Given the description of an element on the screen output the (x, y) to click on. 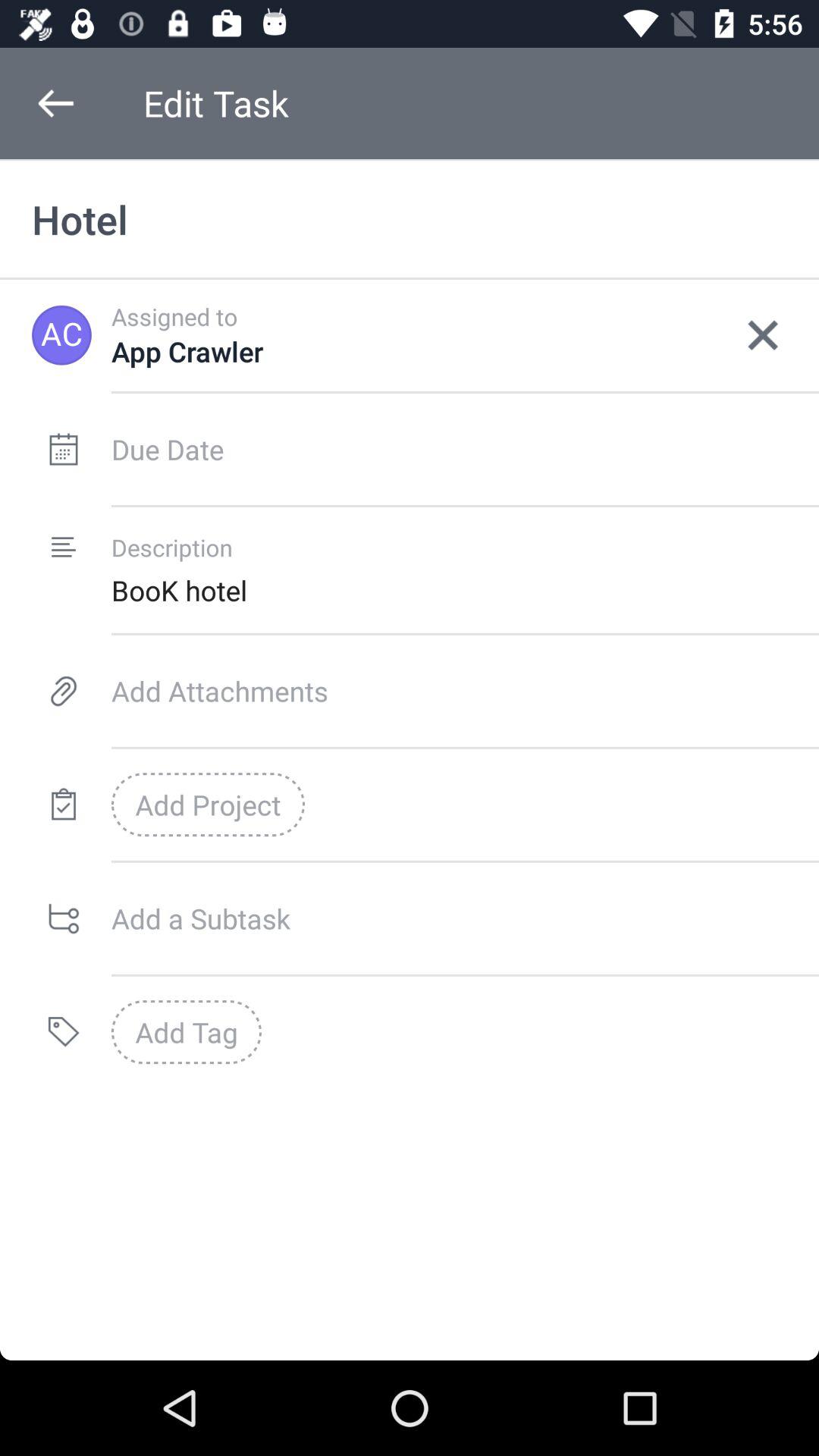
tap icon next to the app crawler (763, 335)
